Given the description of an element on the screen output the (x, y) to click on. 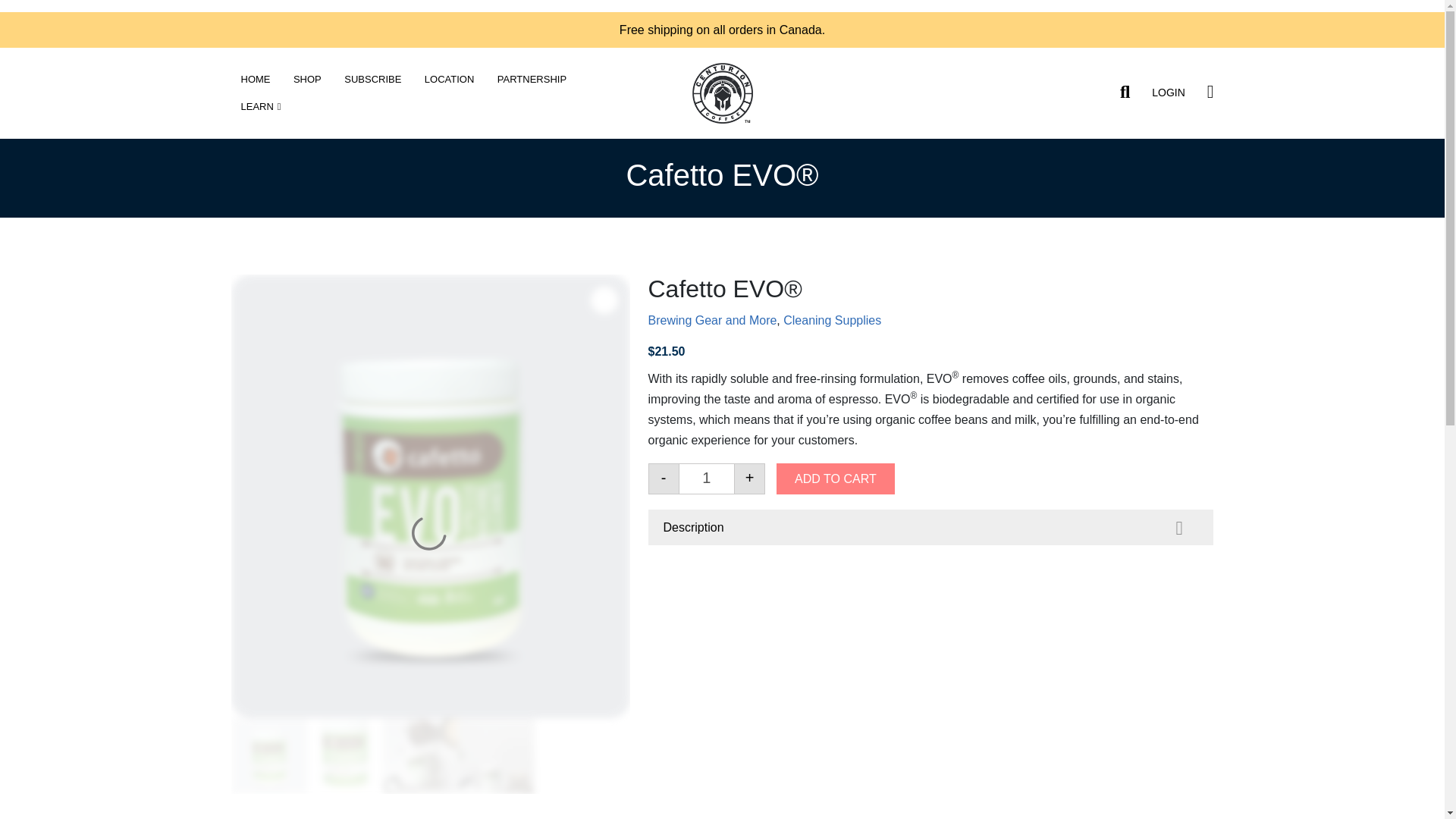
LEARN (259, 106)
cafetto 3 (419, 755)
LOGIN (1168, 92)
cafetto 2 (496, 755)
Cleaning Supplies (831, 319)
HOME (254, 79)
ADD TO CART (835, 478)
Brewing Gear and More (711, 319)
- (662, 478)
